Given the description of an element on the screen output the (x, y) to click on. 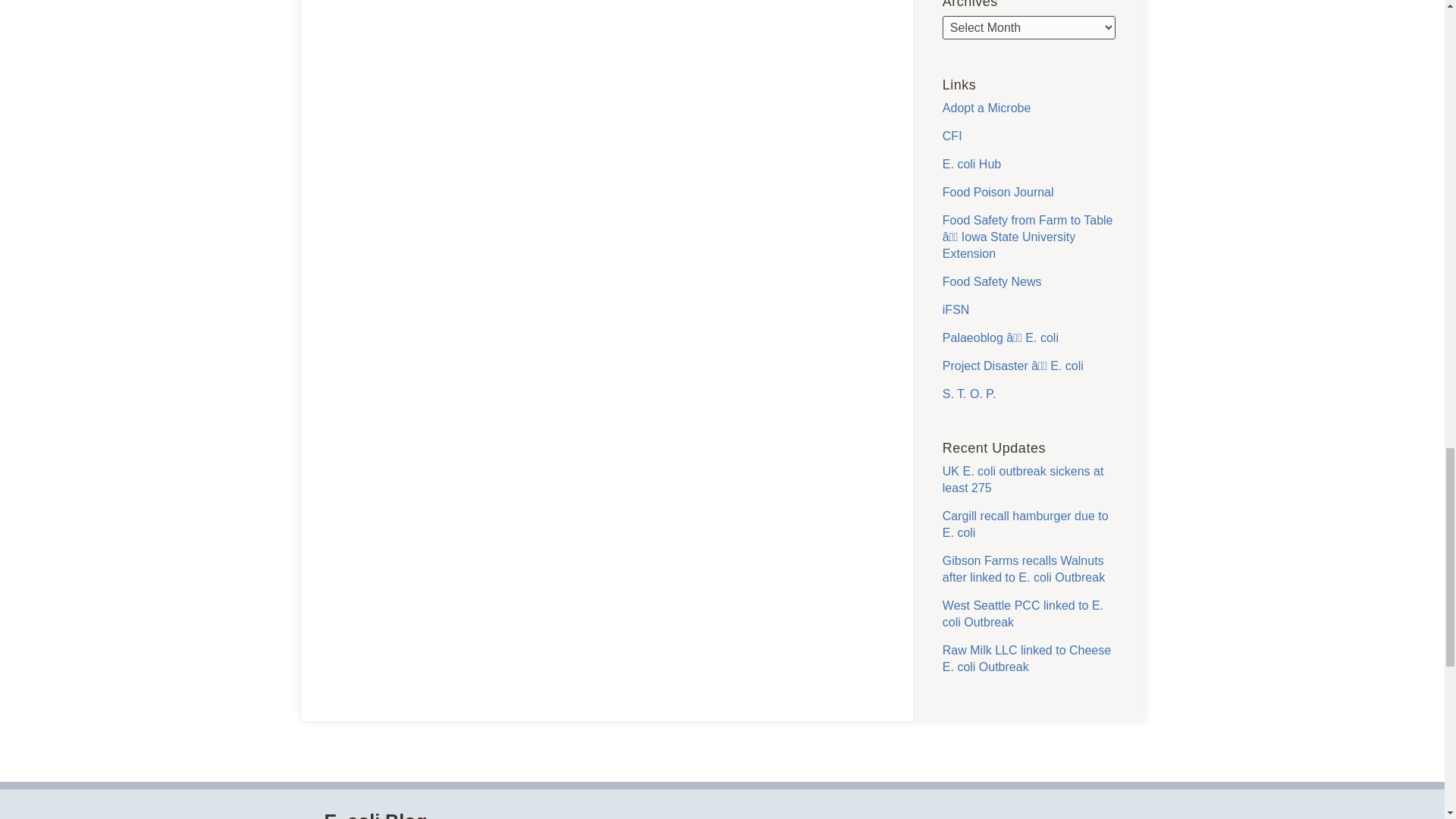
Adopt a Microbe (986, 107)
